Given the description of an element on the screen output the (x, y) to click on. 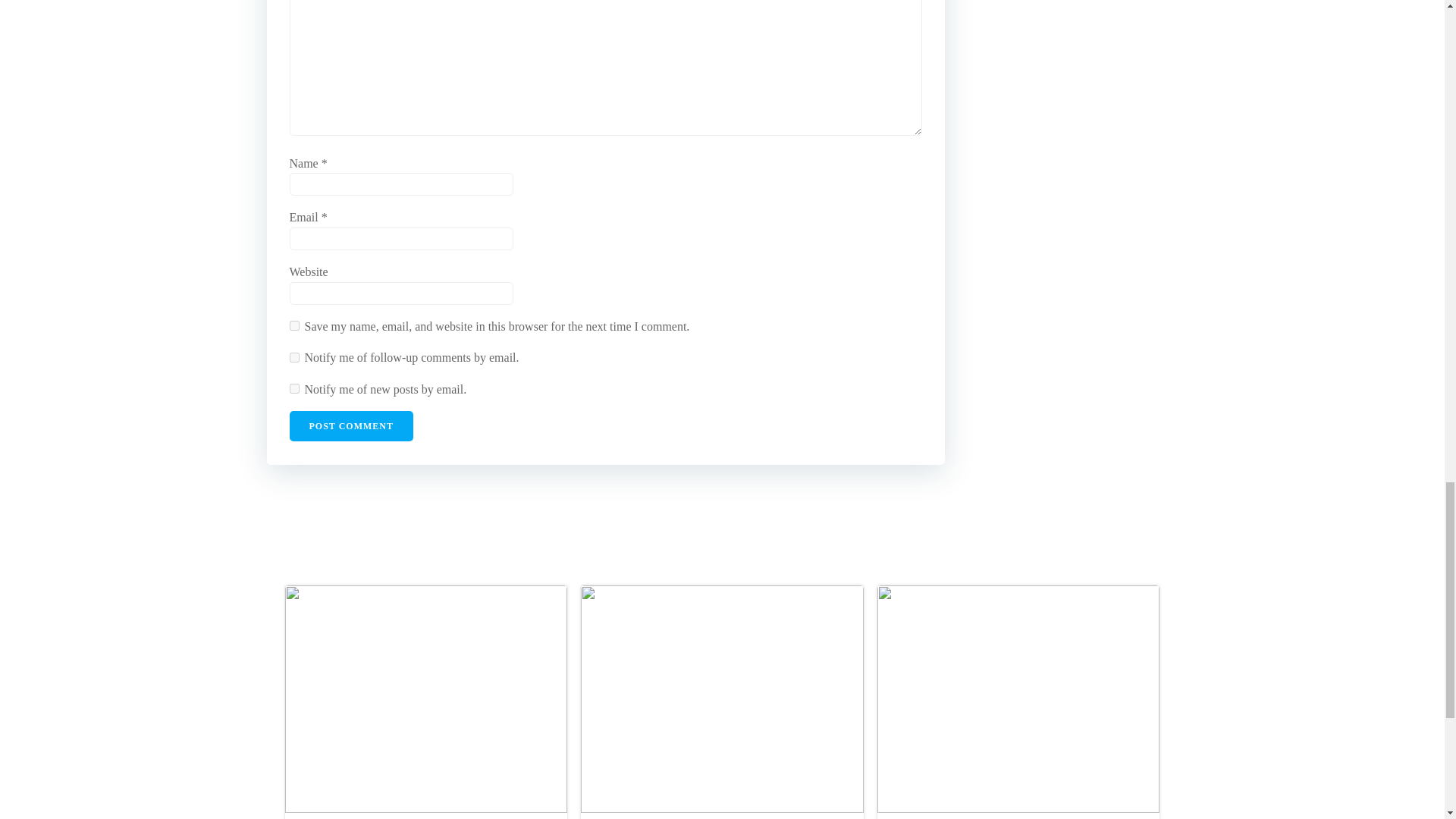
subscribe (294, 357)
Post Comment (351, 426)
subscribe (294, 388)
yes (294, 325)
